Given the description of an element on the screen output the (x, y) to click on. 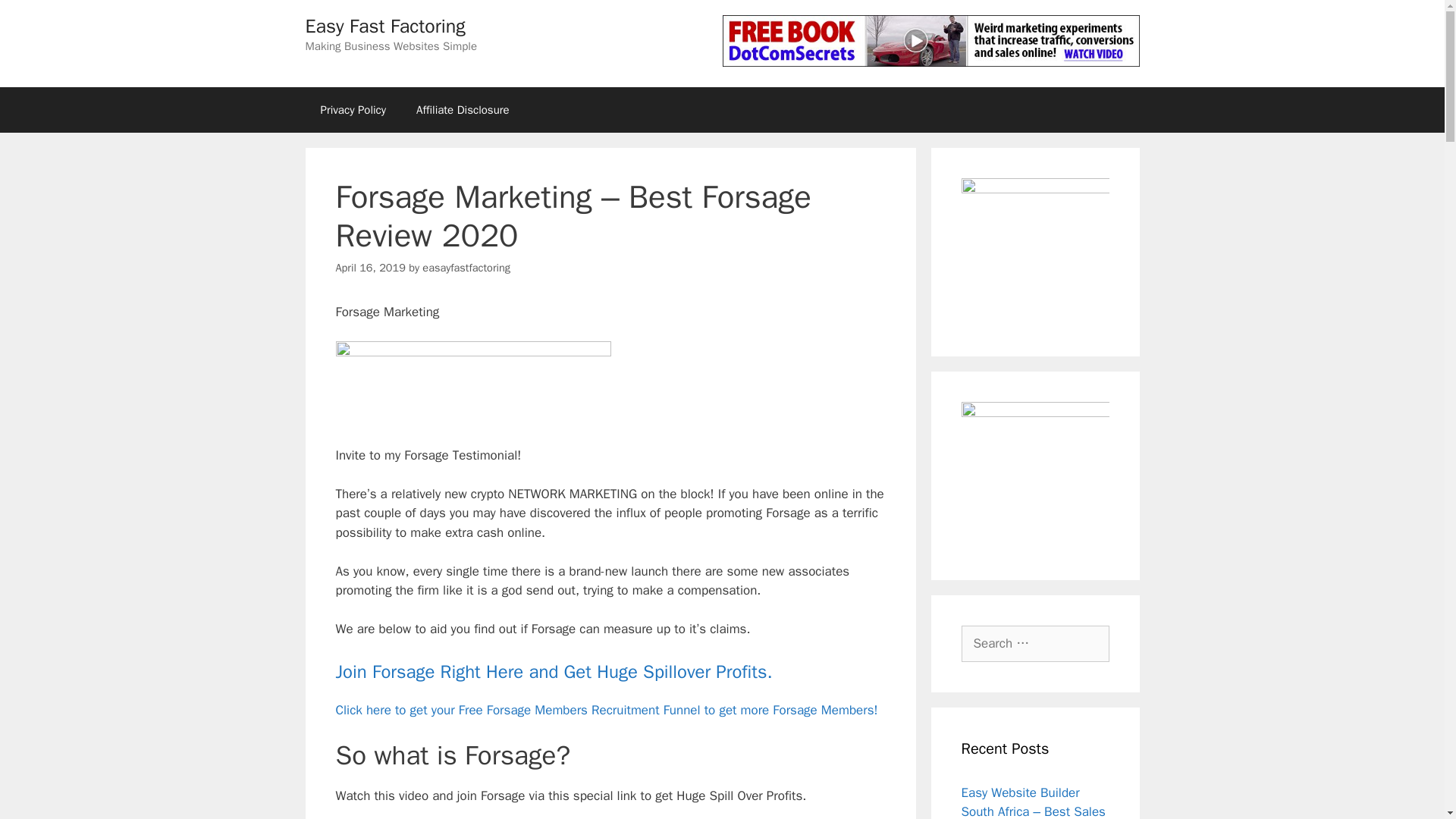
easayfastfactoring (466, 267)
Search (35, 18)
Search for: (1034, 643)
Privacy Policy (352, 109)
Affiliate Disclosure (462, 109)
Easy Fast Factoring (384, 25)
Join Forsage Right Here and Get Huge Spillover Profits. (552, 671)
View all posts by easayfastfactoring (466, 267)
